Given the description of an element on the screen output the (x, y) to click on. 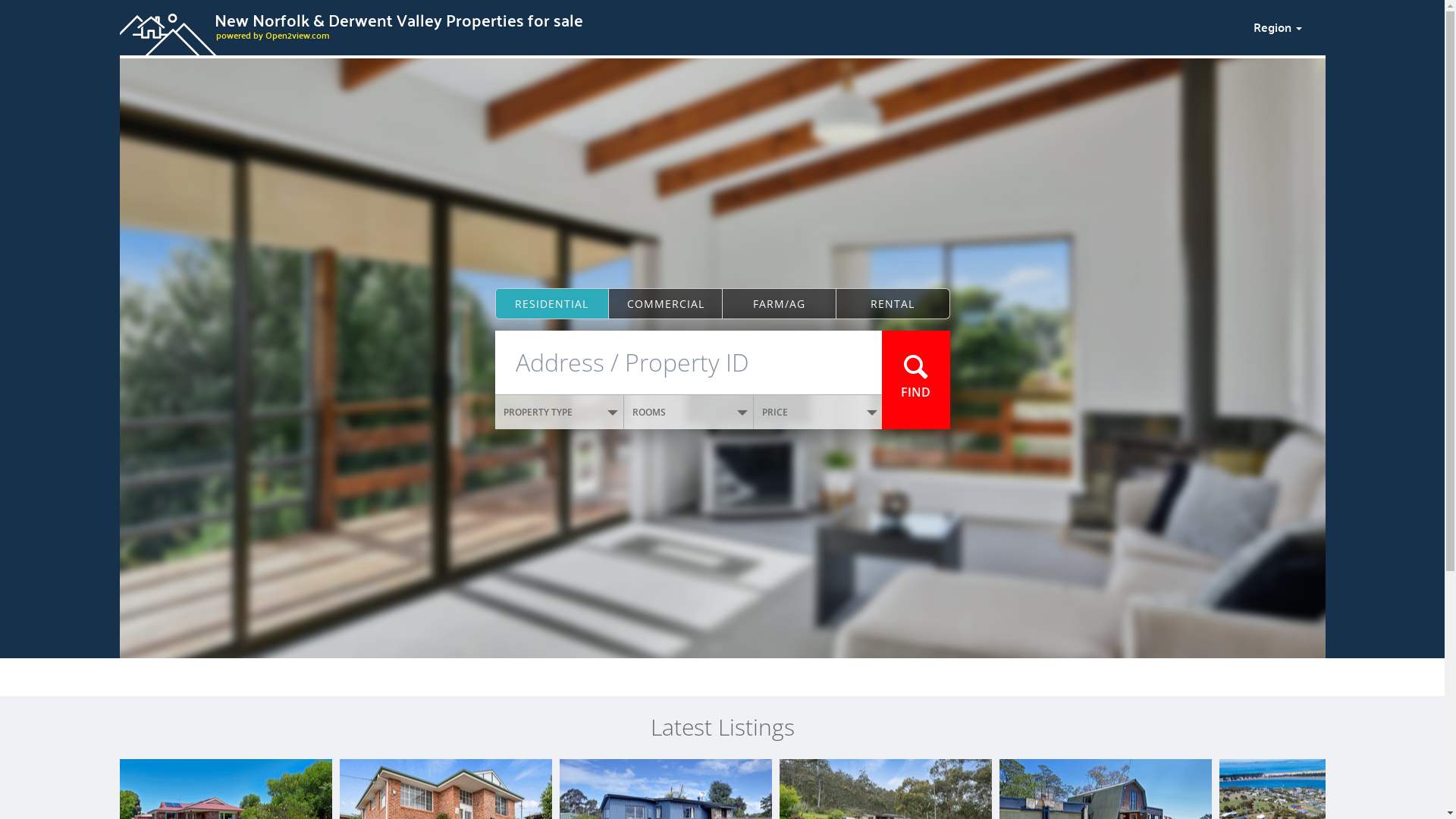
PRICE Element type: text (817, 412)
PROPERTY TYPE Element type: text (559, 412)
ROOMS Element type: text (688, 412)
